Given the description of an element on the screen output the (x, y) to click on. 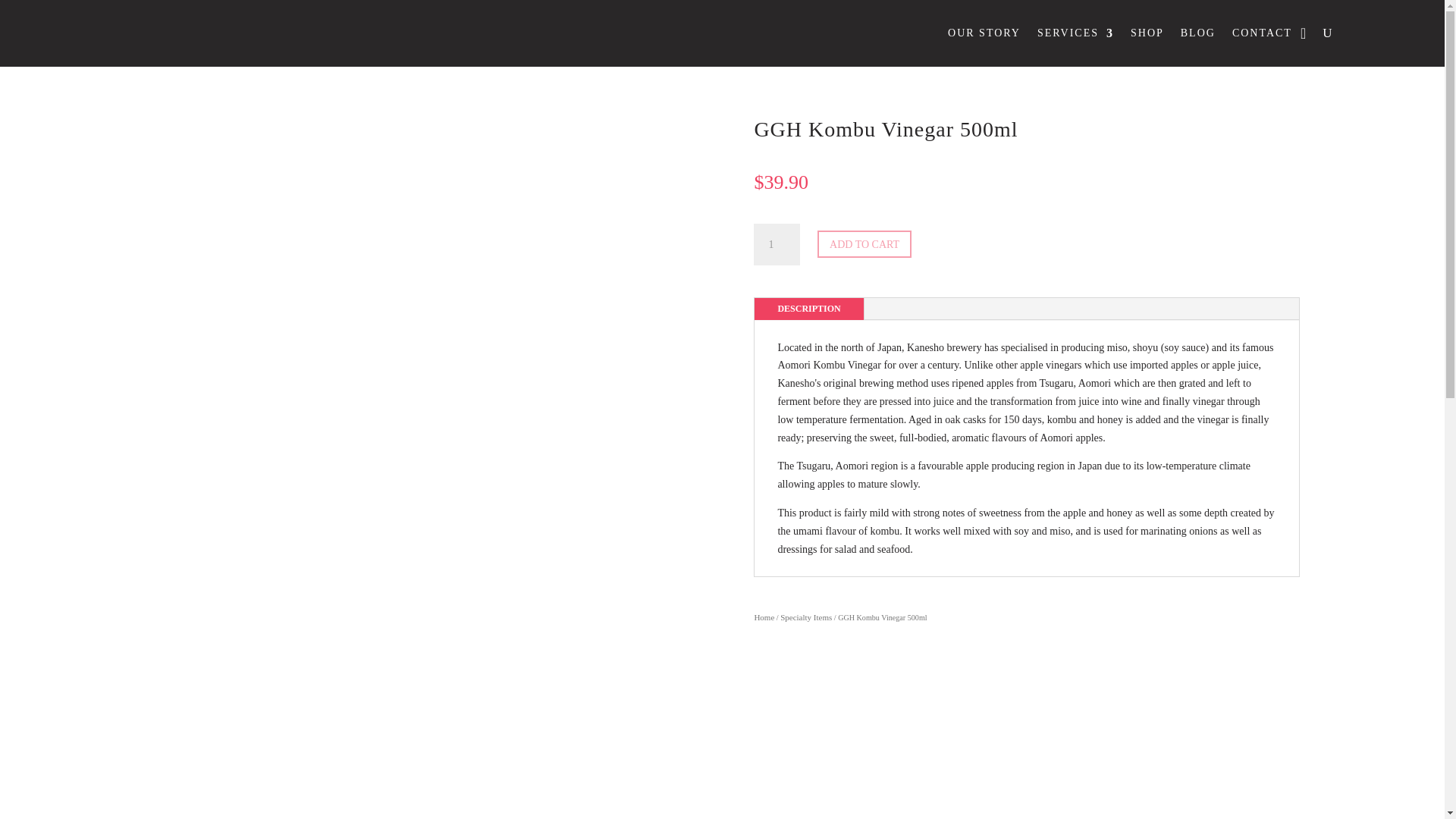
OUR STORY (983, 33)
Specialty Items (805, 616)
ADD TO CART (863, 243)
1 (776, 243)
SERVICES (1074, 33)
Home (764, 616)
CONTACT (1261, 33)
DESCRIPTION (808, 308)
